Given the description of an element on the screen output the (x, y) to click on. 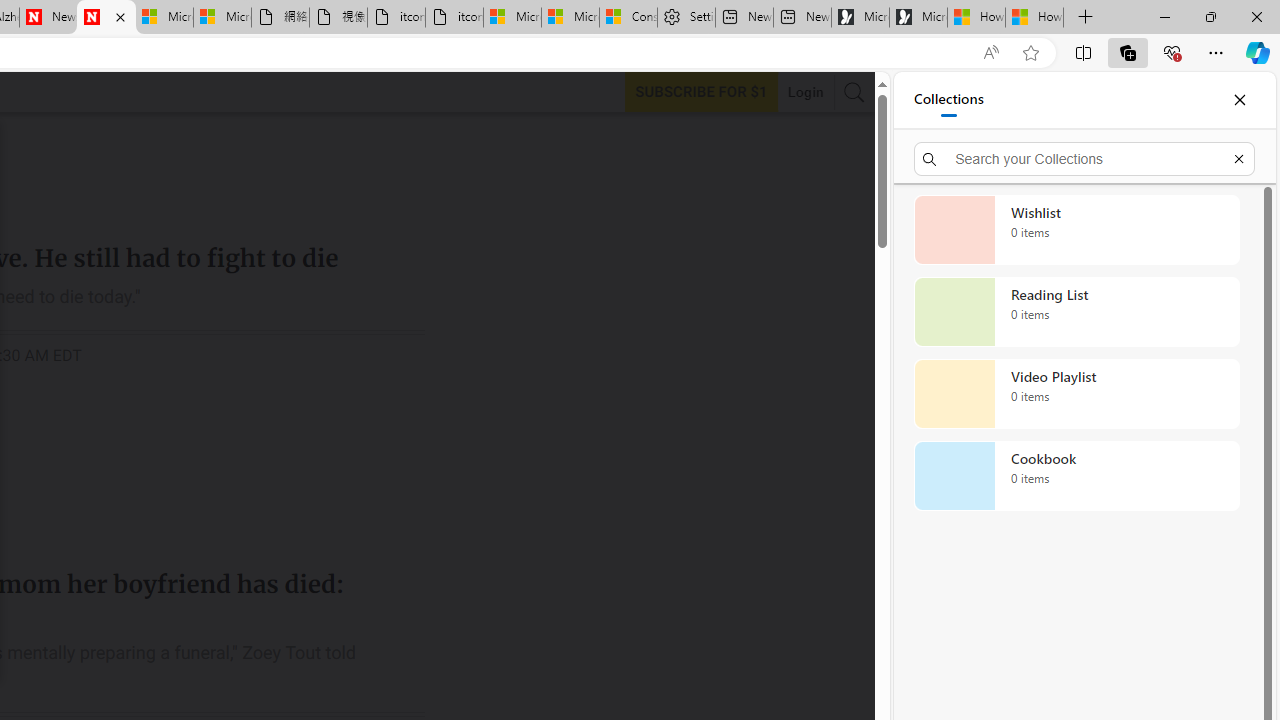
Illness news & latest pictures from Newsweek.com (106, 17)
itconcepthk.com/projector_solutions.mp4 (454, 17)
